Given the description of an element on the screen output the (x, y) to click on. 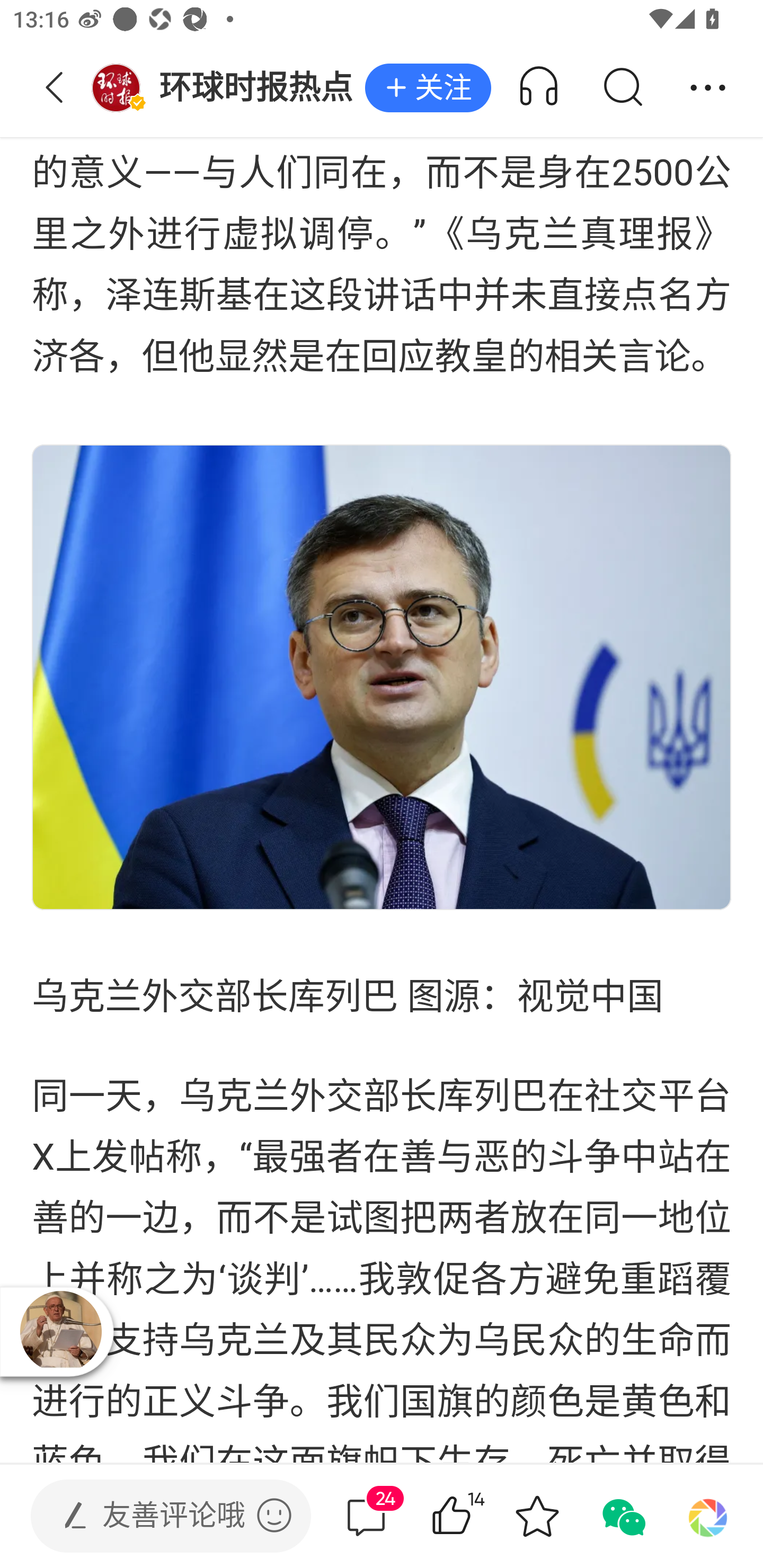
环球时报热点 (227, 87)
搜索  (622, 87)
分享  (707, 87)
 返回 (54, 87)
 关注 (427, 88)
新闻图片 (381, 676)
播放器 (60, 1331)
发表评论  友善评论哦 发表评论  (155, 1516)
24评论  24 评论 (365, 1516)
14赞 (476, 1516)
收藏  (536, 1516)
分享到微信  (622, 1516)
分享到朋友圈 (707, 1516)
 (274, 1515)
